Given the description of an element on the screen output the (x, y) to click on. 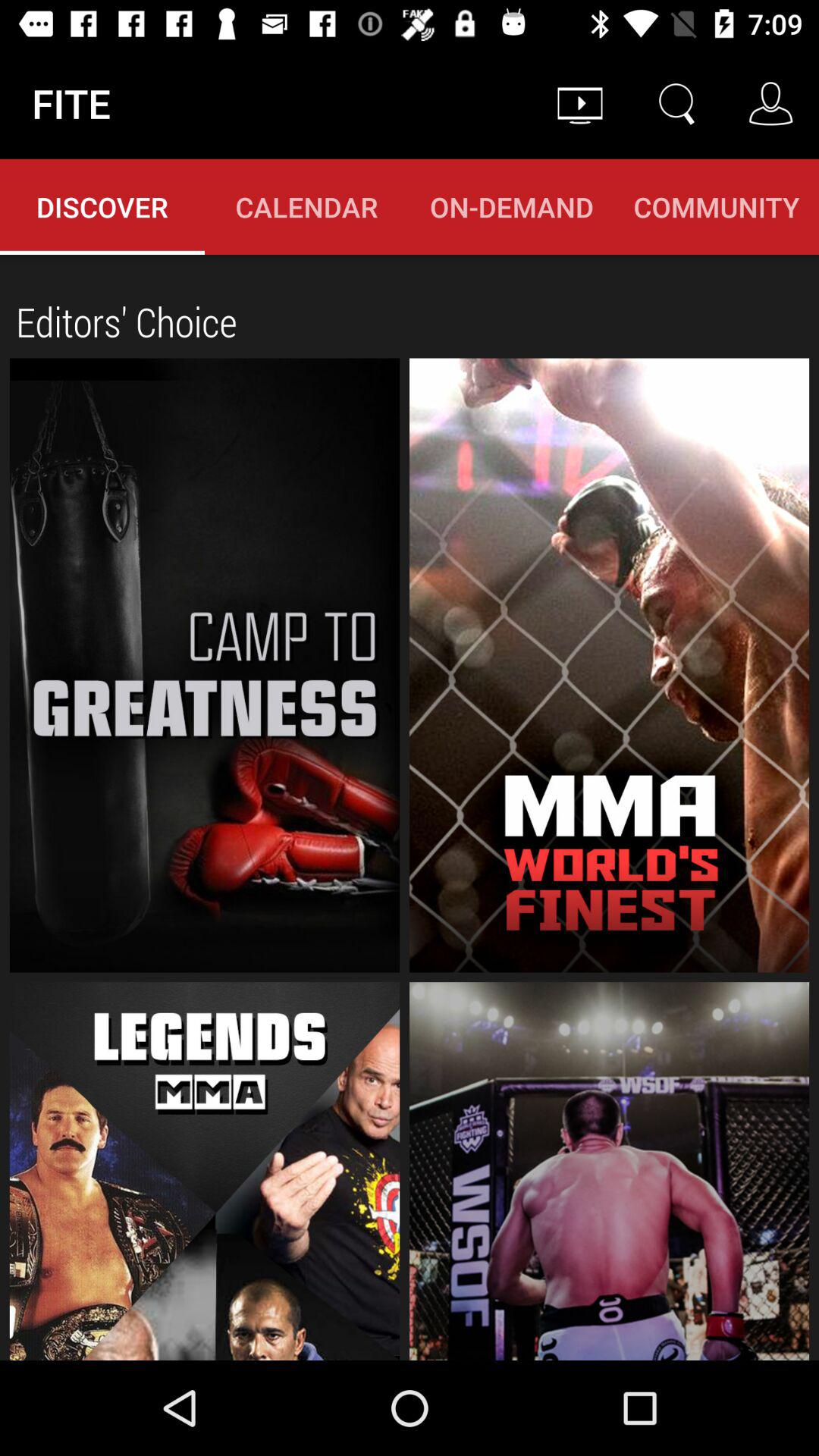
view broadcast (609, 665)
